Given the description of an element on the screen output the (x, y) to click on. 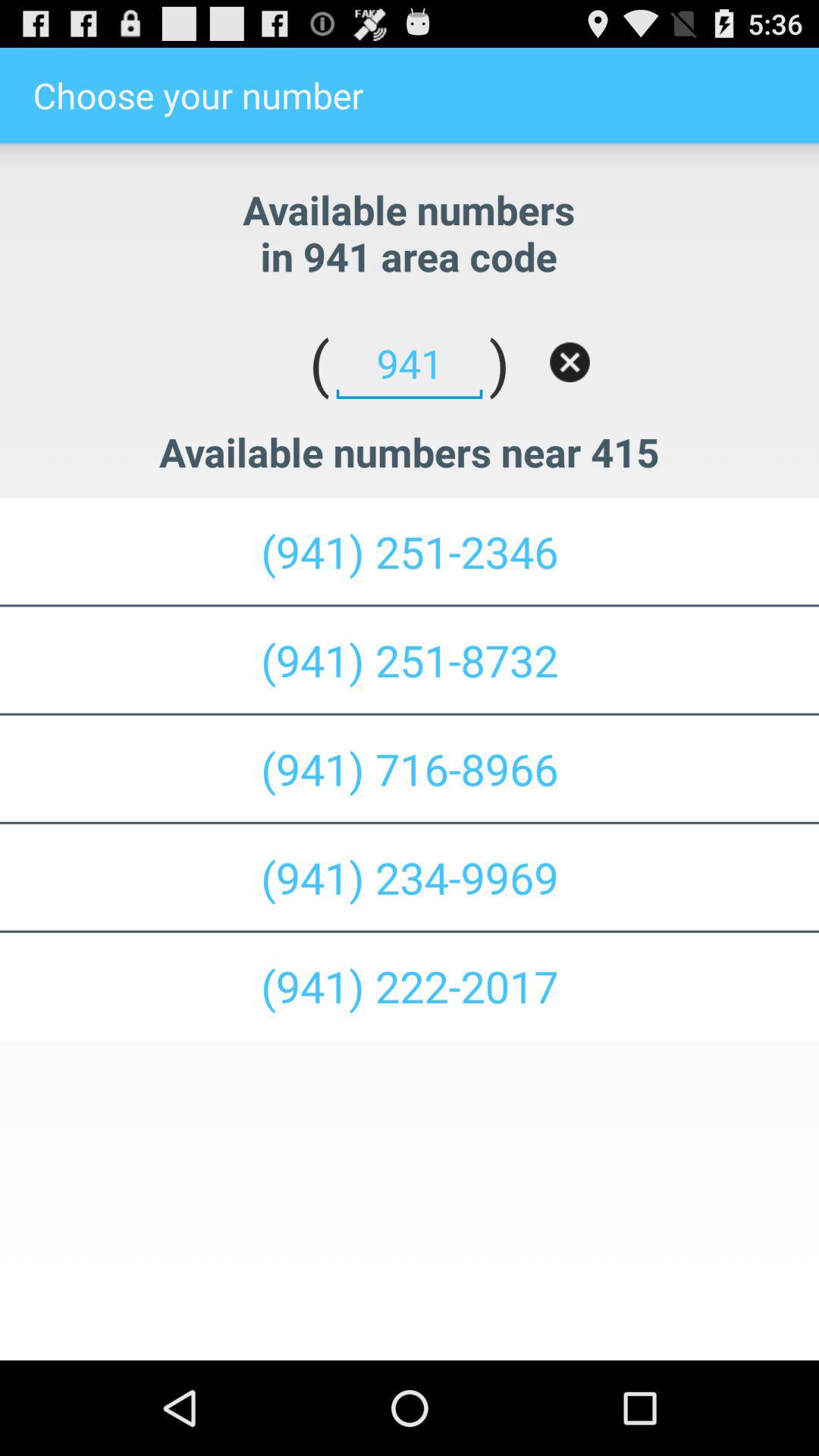
clear (569, 362)
